Given the description of an element on the screen output the (x, y) to click on. 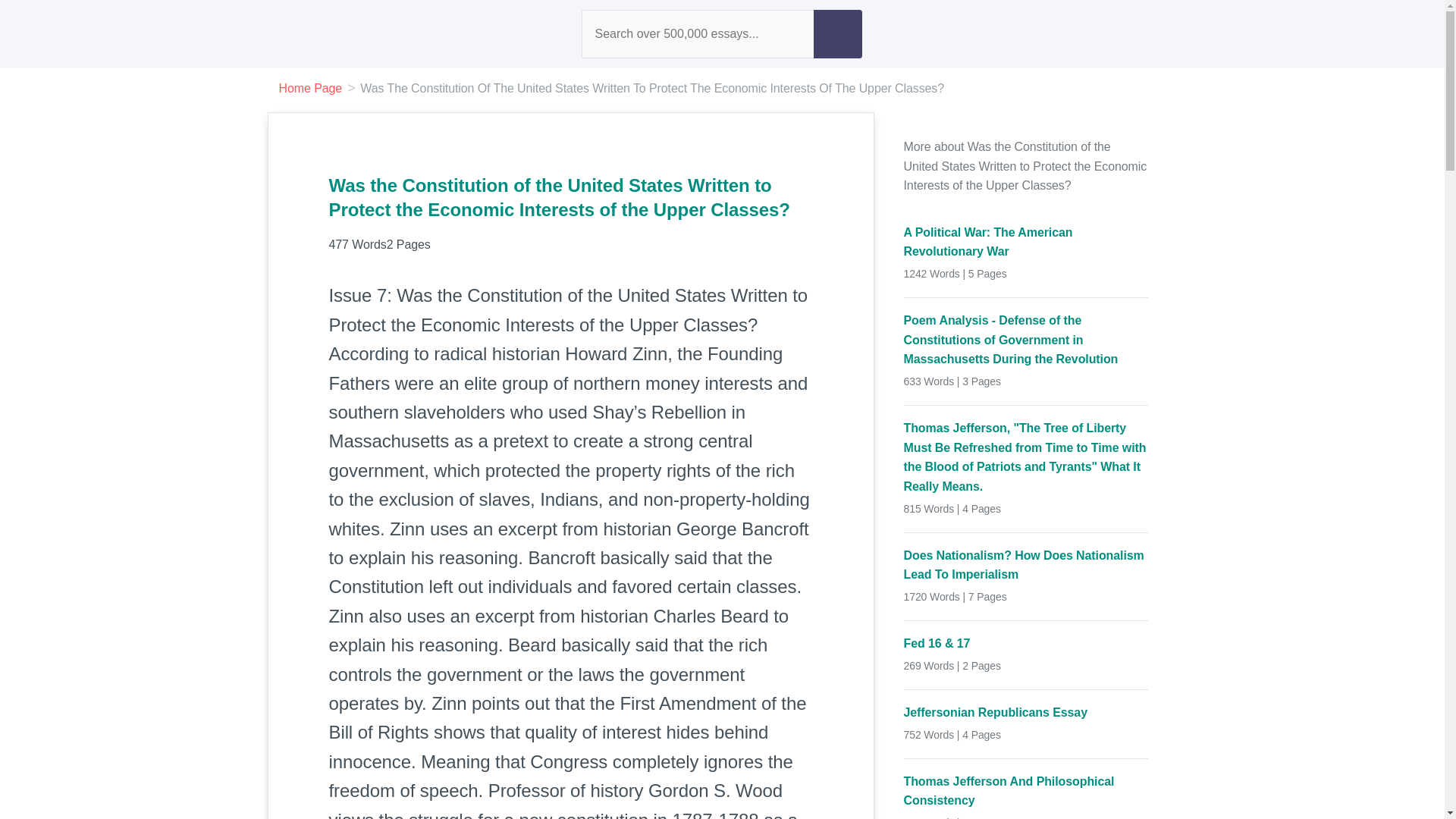
Does Nationalism? How Does Nationalism Lead To Imperialism (1026, 565)
A Political War: The American Revolutionary War (1026, 241)
Thomas Jefferson And Philosophical Consistency (1026, 791)
Jeffersonian Republicans Essay (1026, 712)
Home Page (310, 88)
